Given the description of an element on the screen output the (x, y) to click on. 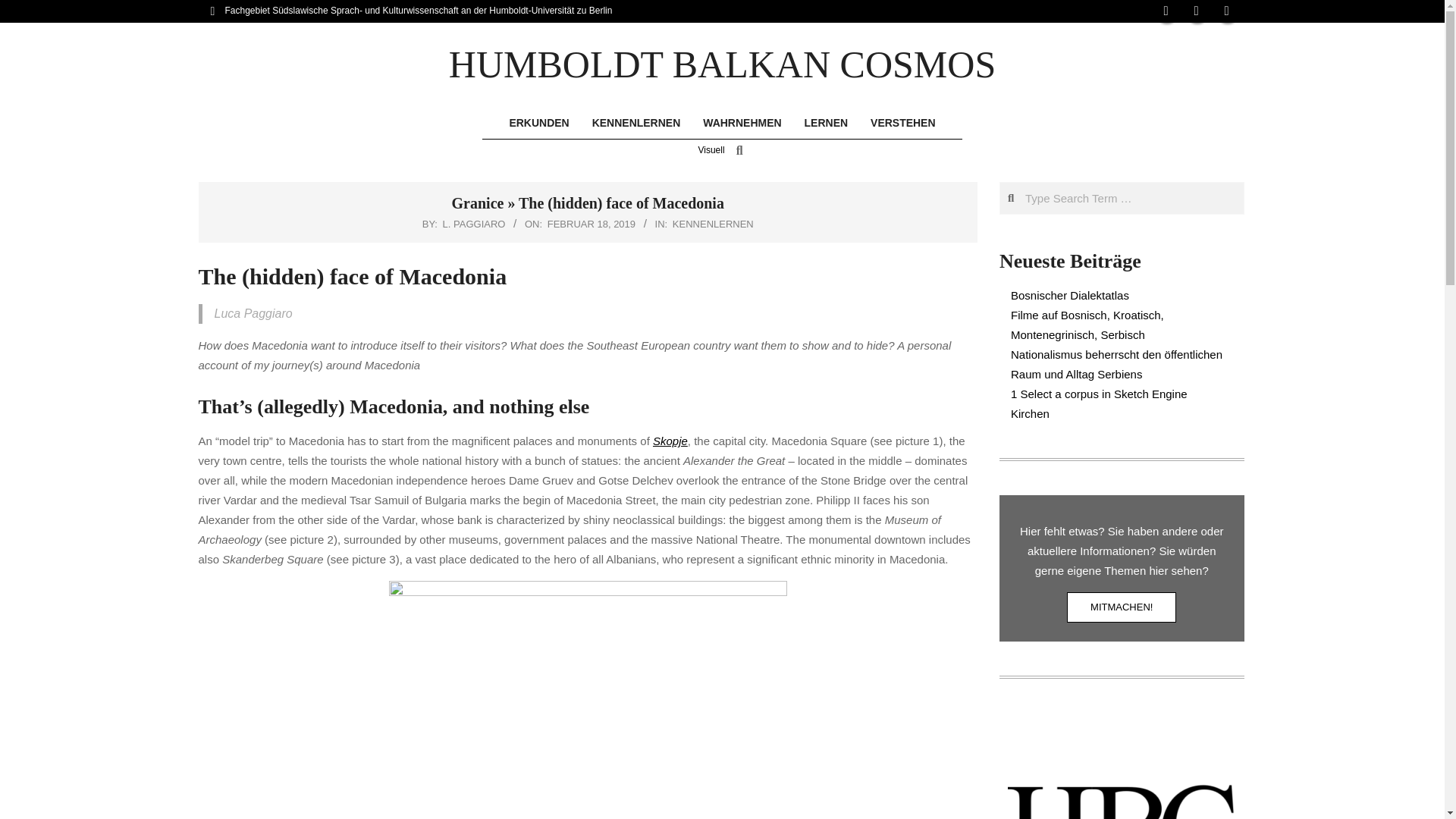
KENNENLERNEN (713, 224)
Montag, Februar 18, 2019, 10:29 pm (590, 224)
KENNENLERNEN (636, 123)
1 Select a corpus in Sketch Engine (1099, 393)
Visuell (710, 149)
ERKUNDEN (538, 123)
LERNEN (826, 123)
L. PAGGIARO (473, 224)
Search (21, 8)
MITMACHEN! (1121, 607)
VERSTEHEN (902, 123)
Skopje (669, 440)
Filme auf Bosnisch, Kroatisch, Montenegrinisch, Serbisch (1086, 324)
Bosnischer Dialektatlas (1069, 295)
Kirchen (1029, 413)
